Given the description of an element on the screen output the (x, y) to click on. 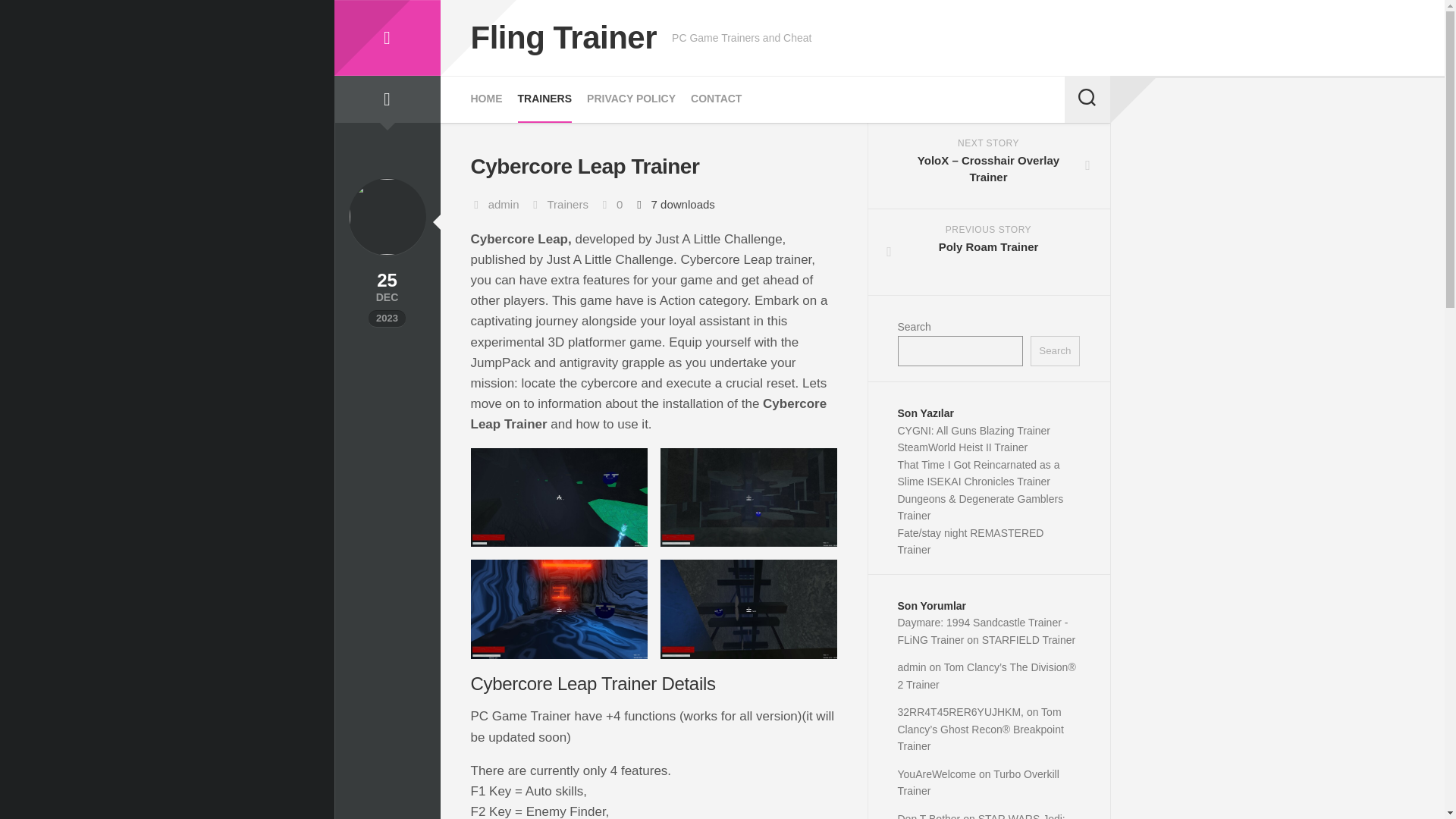
PRIVACY POLICY (630, 98)
HOME (486, 98)
admin (503, 204)
Posts by admin (503, 204)
Daymare: 1994 Sandcastle Trainer - FLiNG Trainer (983, 631)
TRAINERS (988, 252)
Fling Trainer (544, 98)
CONTACT (386, 38)
